Given the description of an element on the screen output the (x, y) to click on. 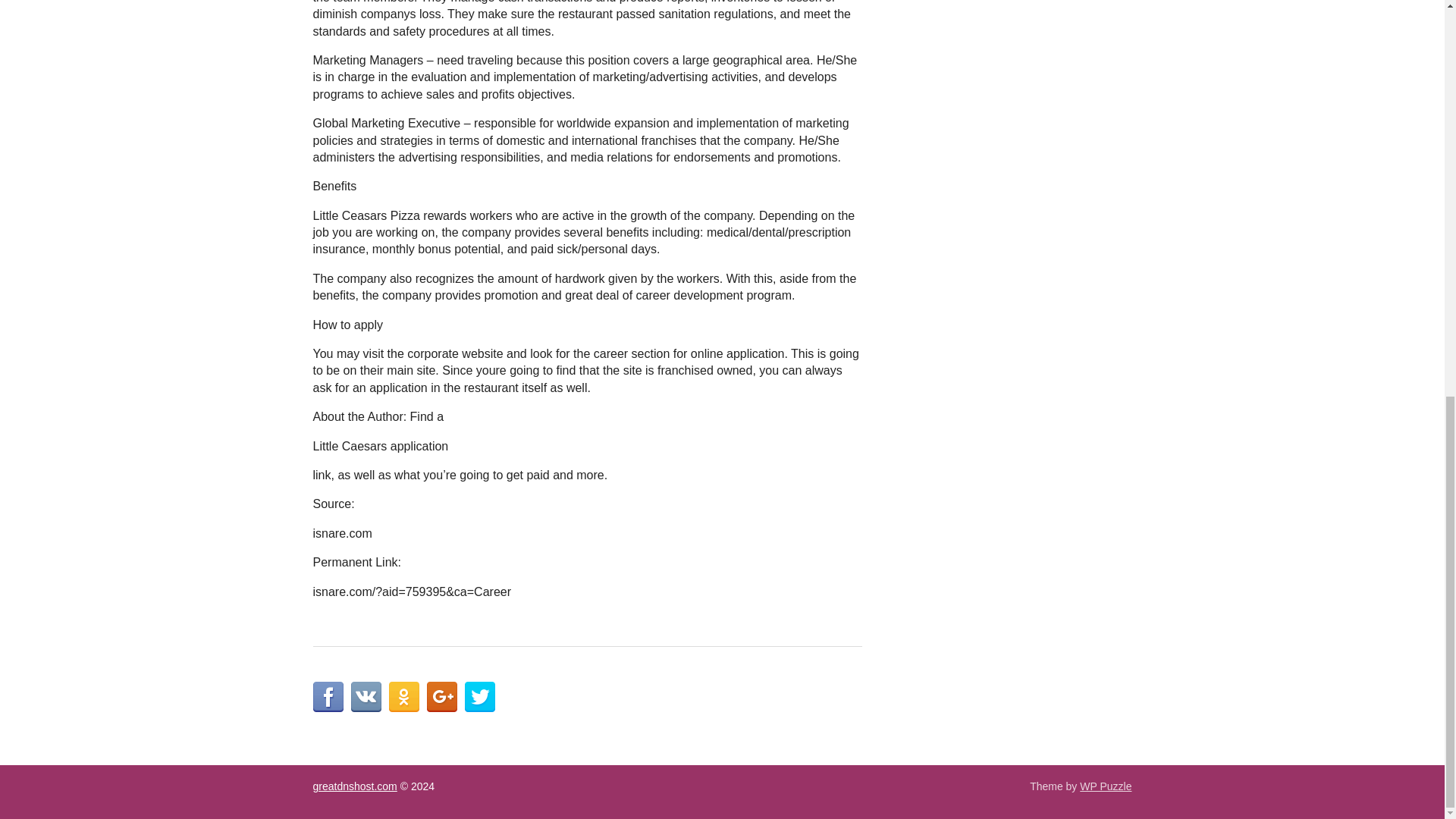
Share in OK (403, 696)
WP Puzzle (1105, 786)
Share in Twitter (479, 696)
Share in Facebook (327, 696)
Share in VK (365, 696)
greatdnshost.com (354, 786)
